Given the description of an element on the screen output the (x, y) to click on. 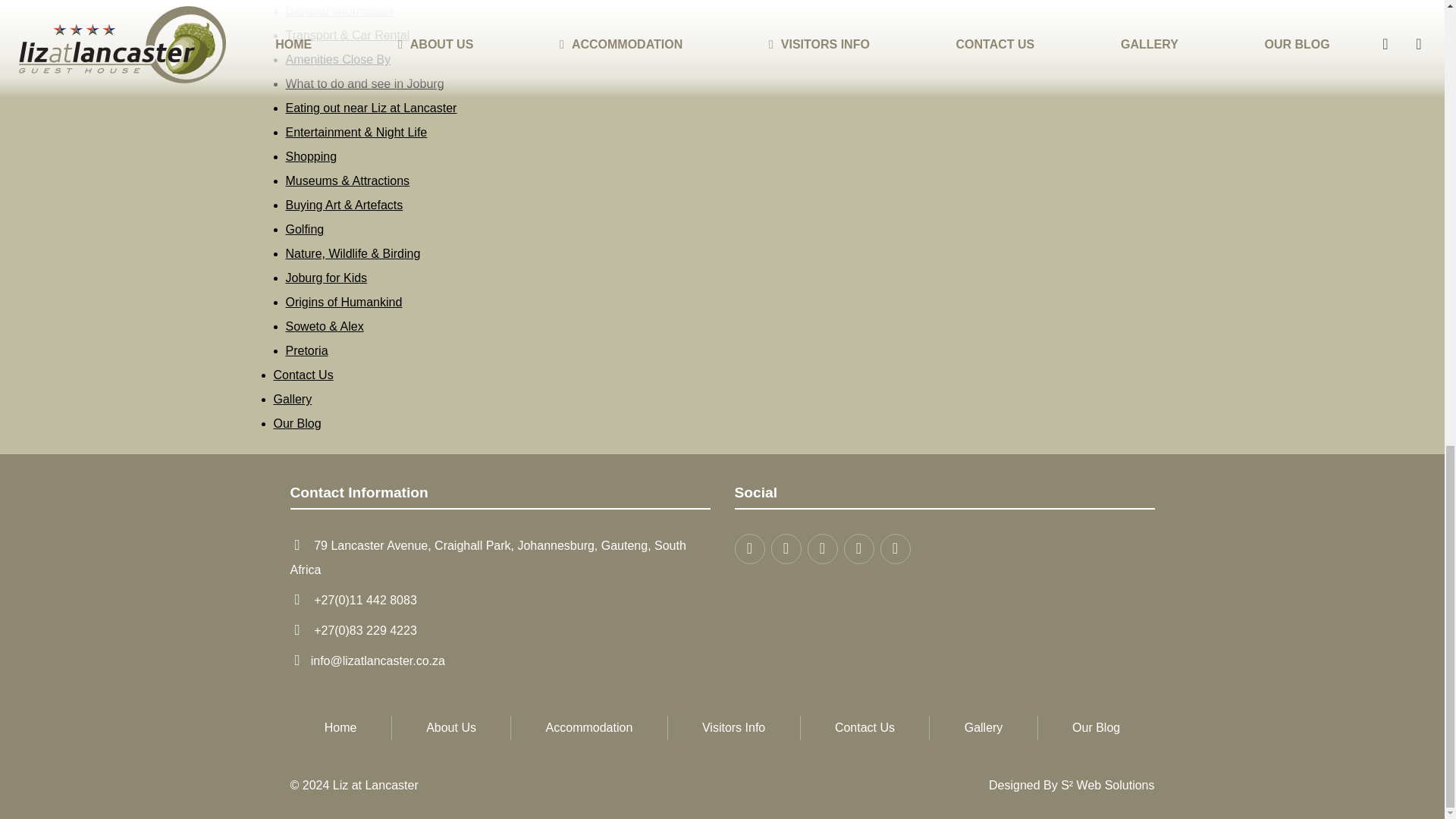
Follow Liz at Lancaster on Instagram (821, 548)
Liz at Lancaster on LinkedIn (858, 548)
Like Liz at Lancaster on Facebook (785, 548)
Liz at Lancaster on Google Hotels (894, 548)
